Given the description of an element on the screen output the (x, y) to click on. 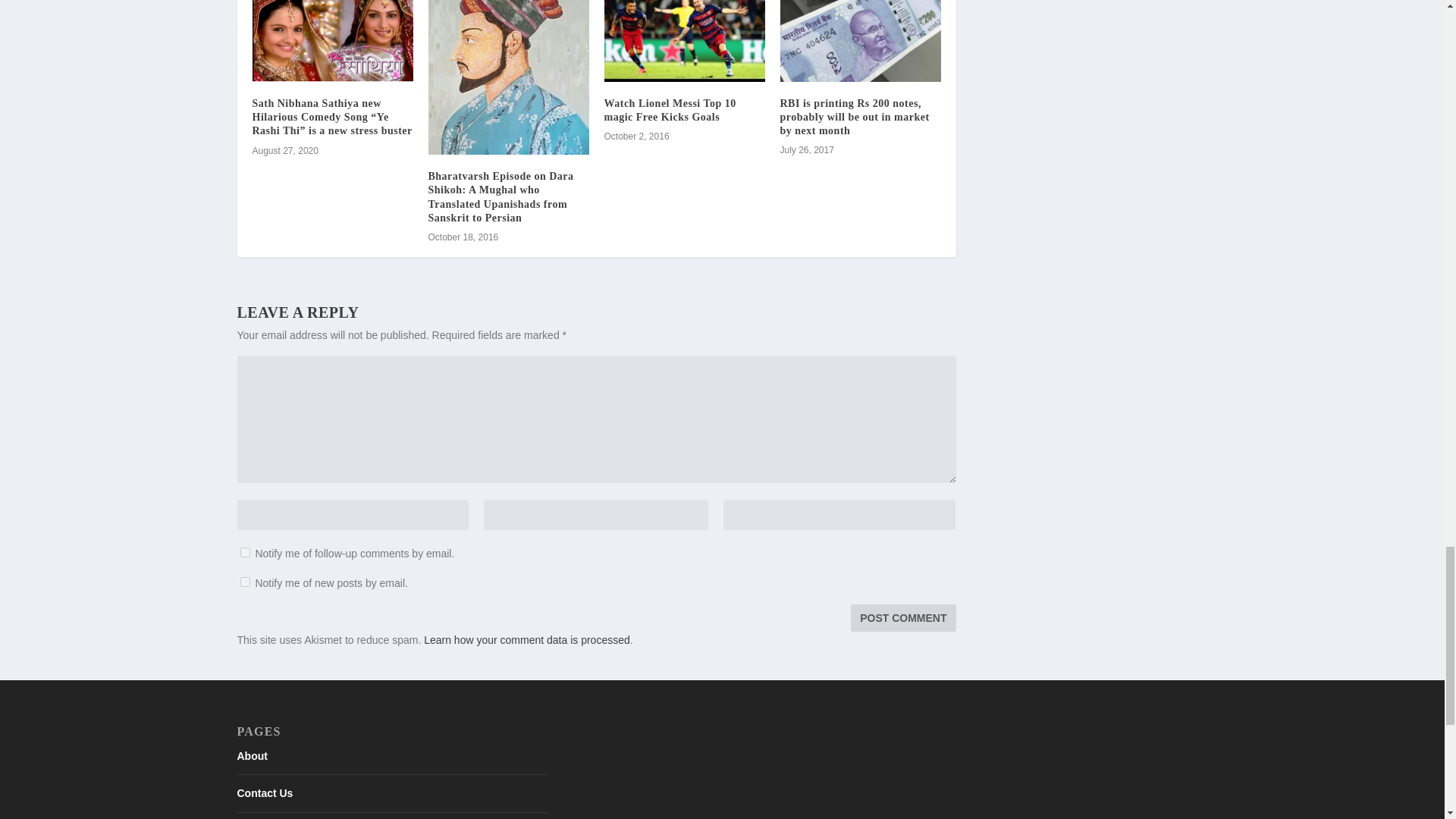
subscribe (244, 552)
Post Comment (902, 617)
subscribe (244, 582)
